Given the description of an element on the screen output the (x, y) to click on. 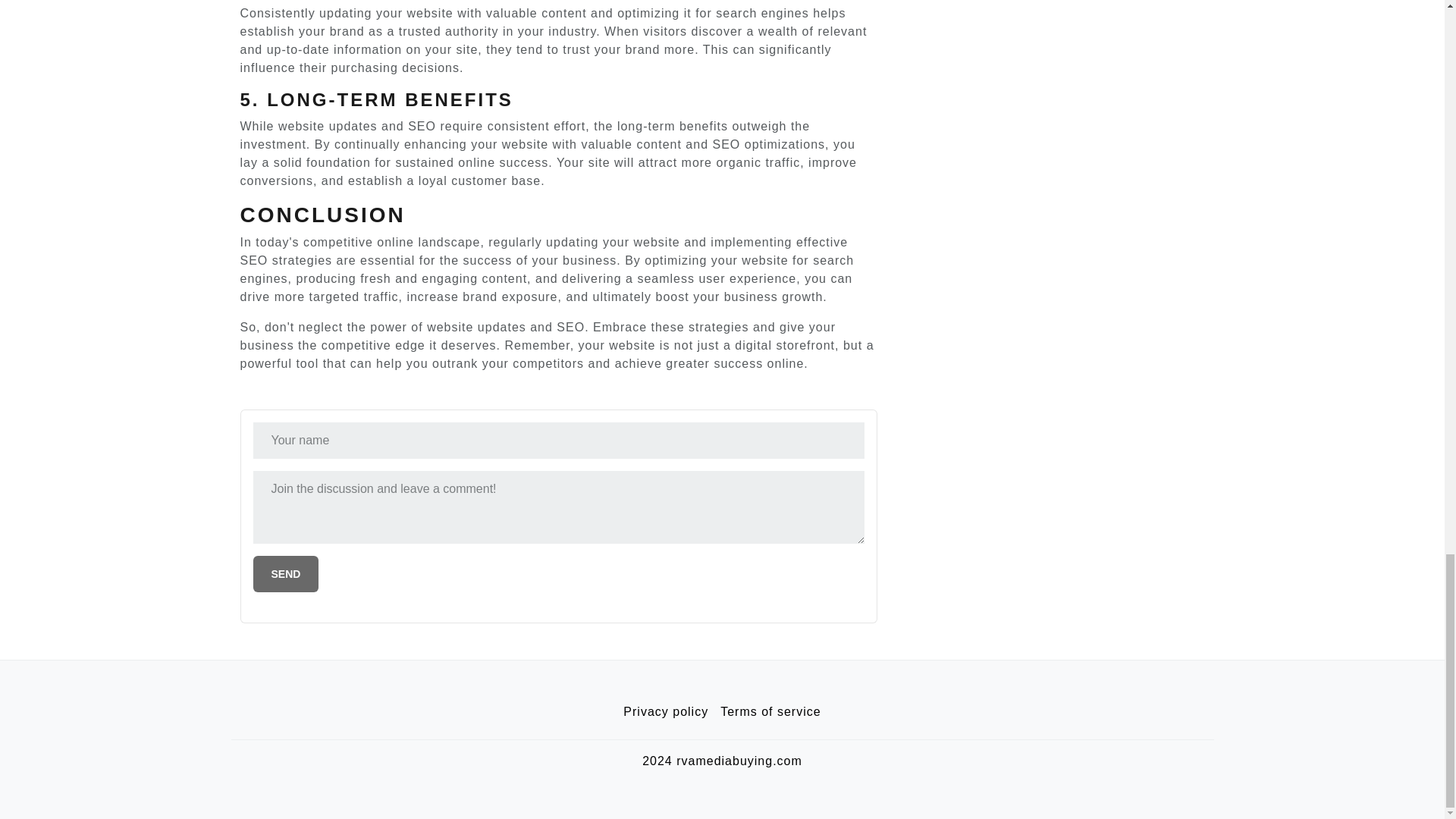
Terms of service (770, 711)
Send (285, 574)
Privacy policy (665, 711)
Send (285, 574)
